Given the description of an element on the screen output the (x, y) to click on. 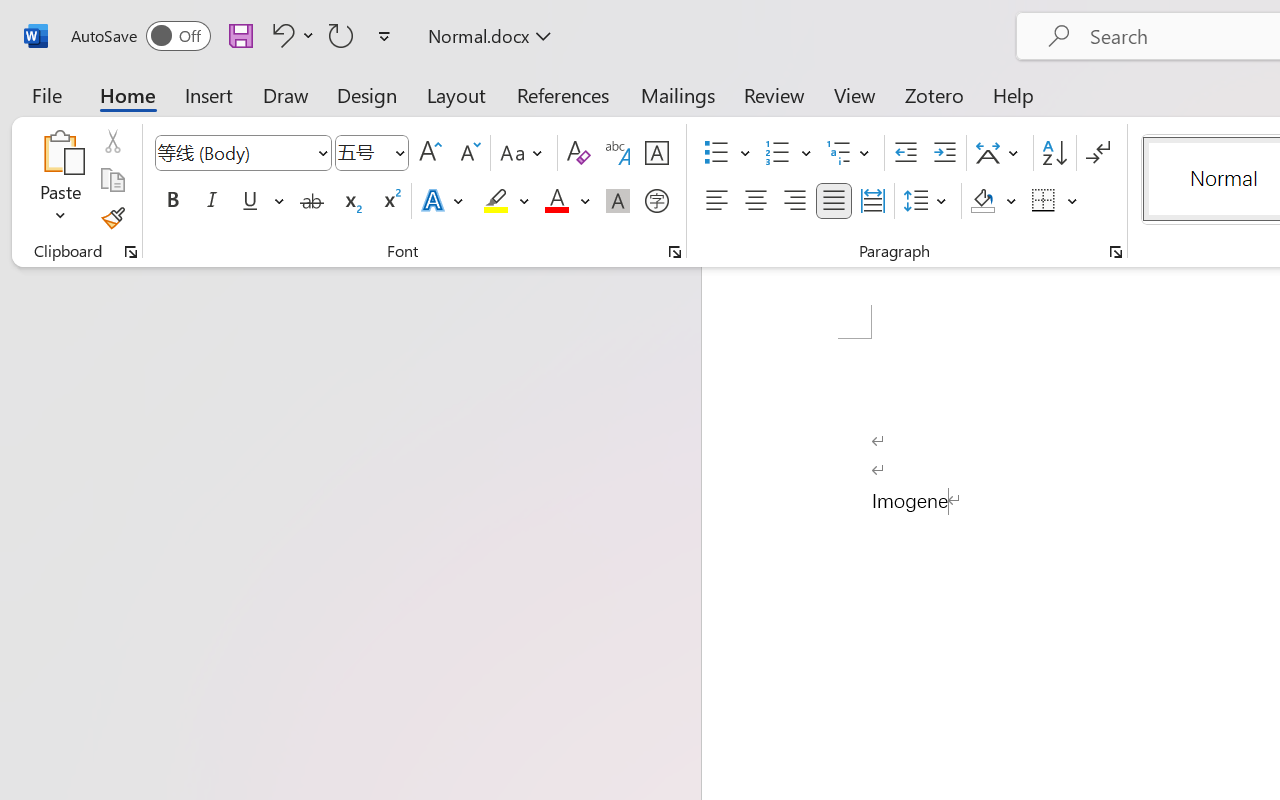
Grow Font (430, 153)
Decrease Indent (906, 153)
Text Highlight Color (506, 201)
Undo Style (290, 35)
Enclose Characters... (656, 201)
Shading RGB(0, 0, 0) (982, 201)
Phonetic Guide... (618, 153)
Text Effects and Typography (444, 201)
